Given the description of an element on the screen output the (x, y) to click on. 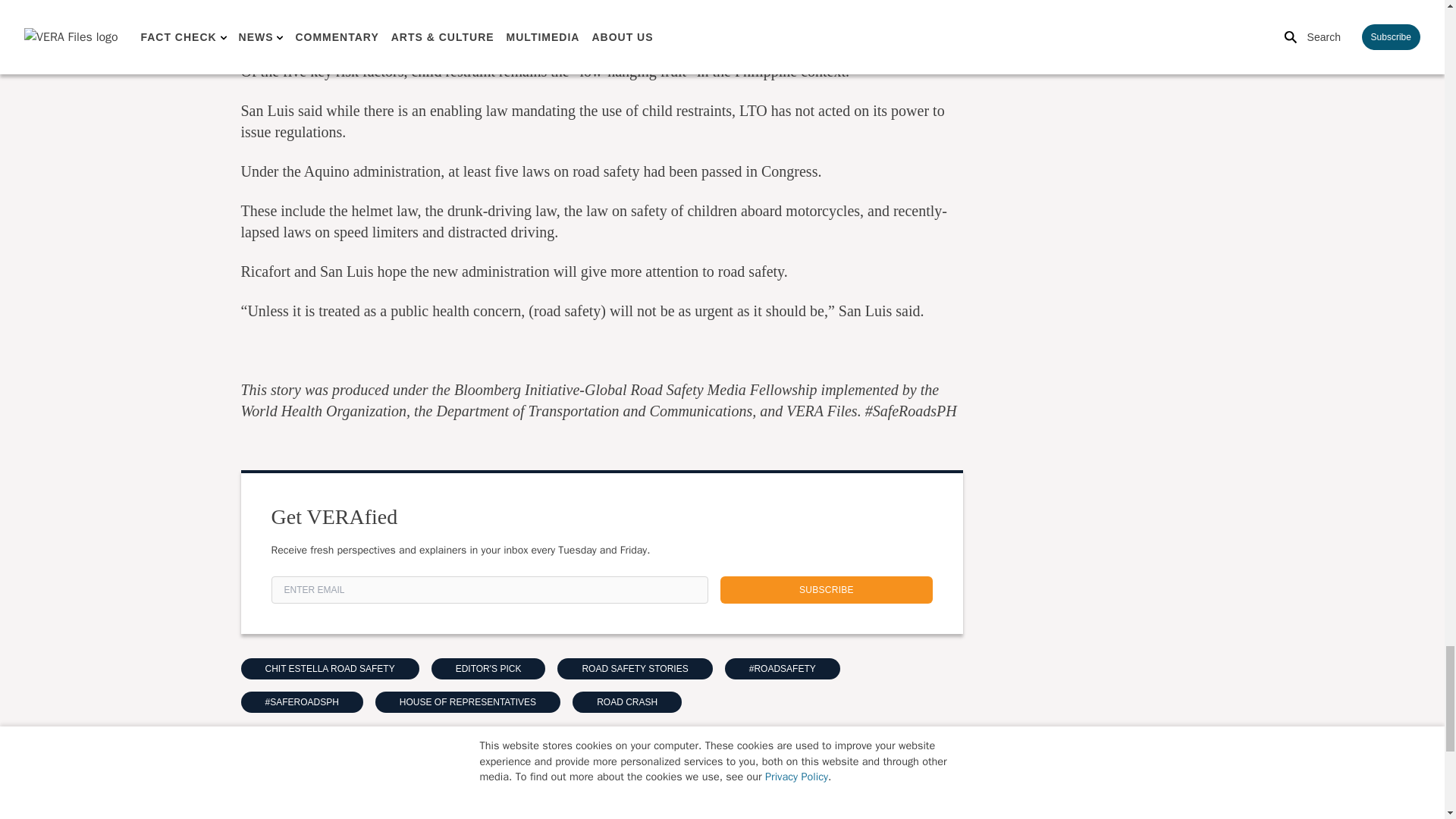
SUBSCRIBE (826, 589)
